Given the description of an element on the screen output the (x, y) to click on. 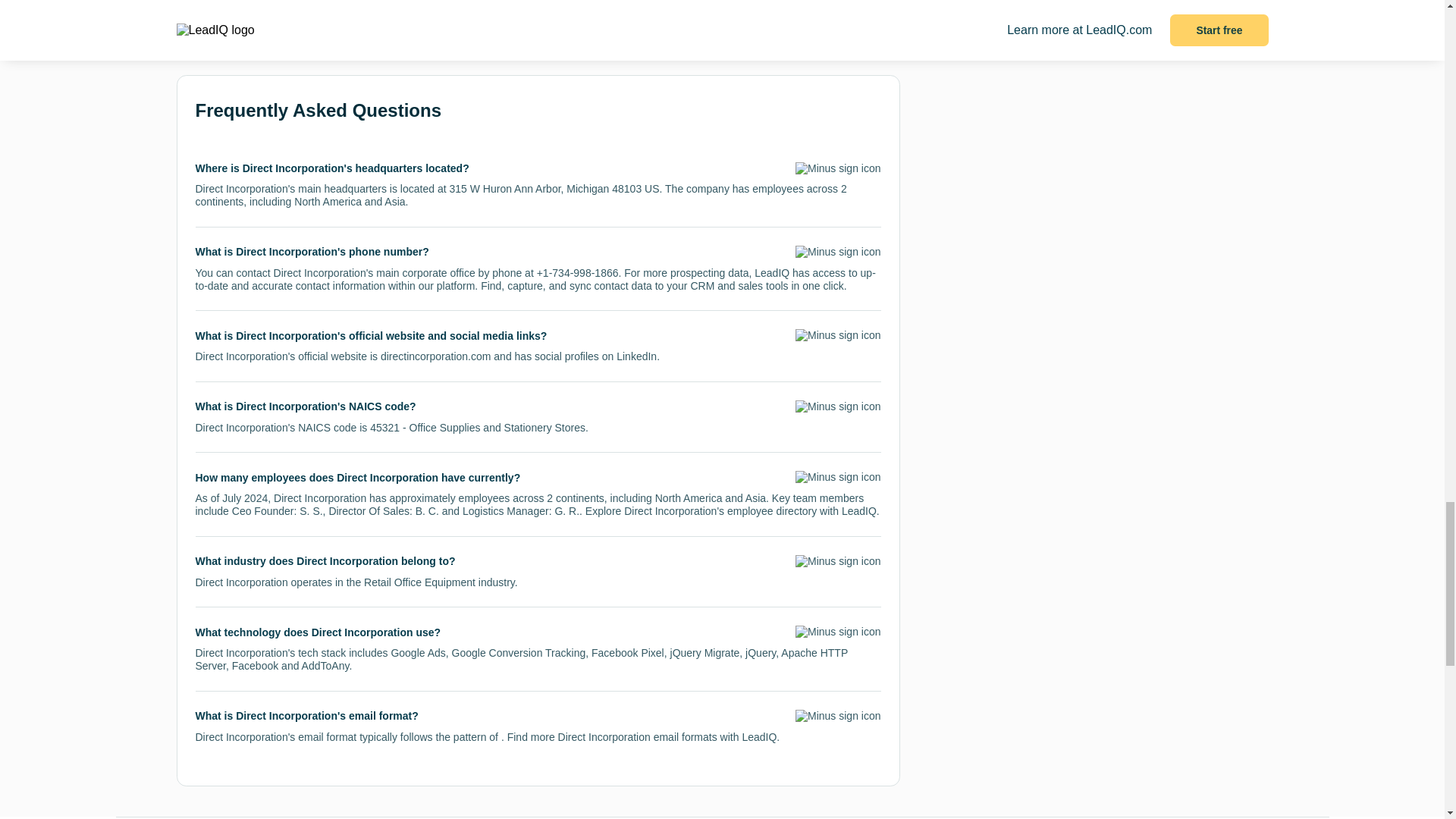
Direct Incorporation's employee directory (720, 510)
LinkedIn (635, 356)
See more formats (249, 15)
Find more Direct Incorporation email formats (611, 736)
directincorporation.com (436, 356)
See more formats (249, 15)
